Given the description of an element on the screen output the (x, y) to click on. 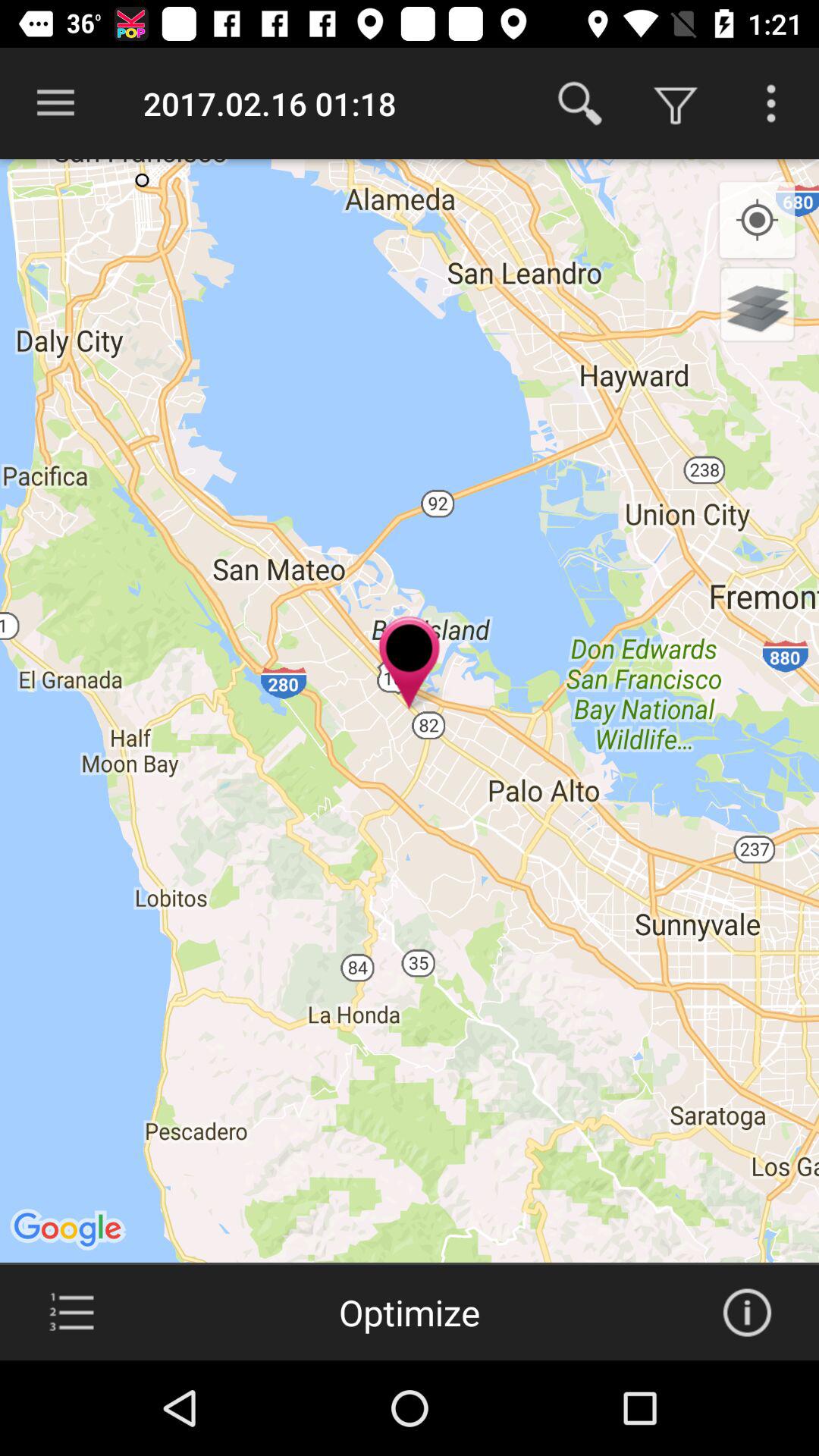
info button (747, 1312)
